Given the description of an element on the screen output the (x, y) to click on. 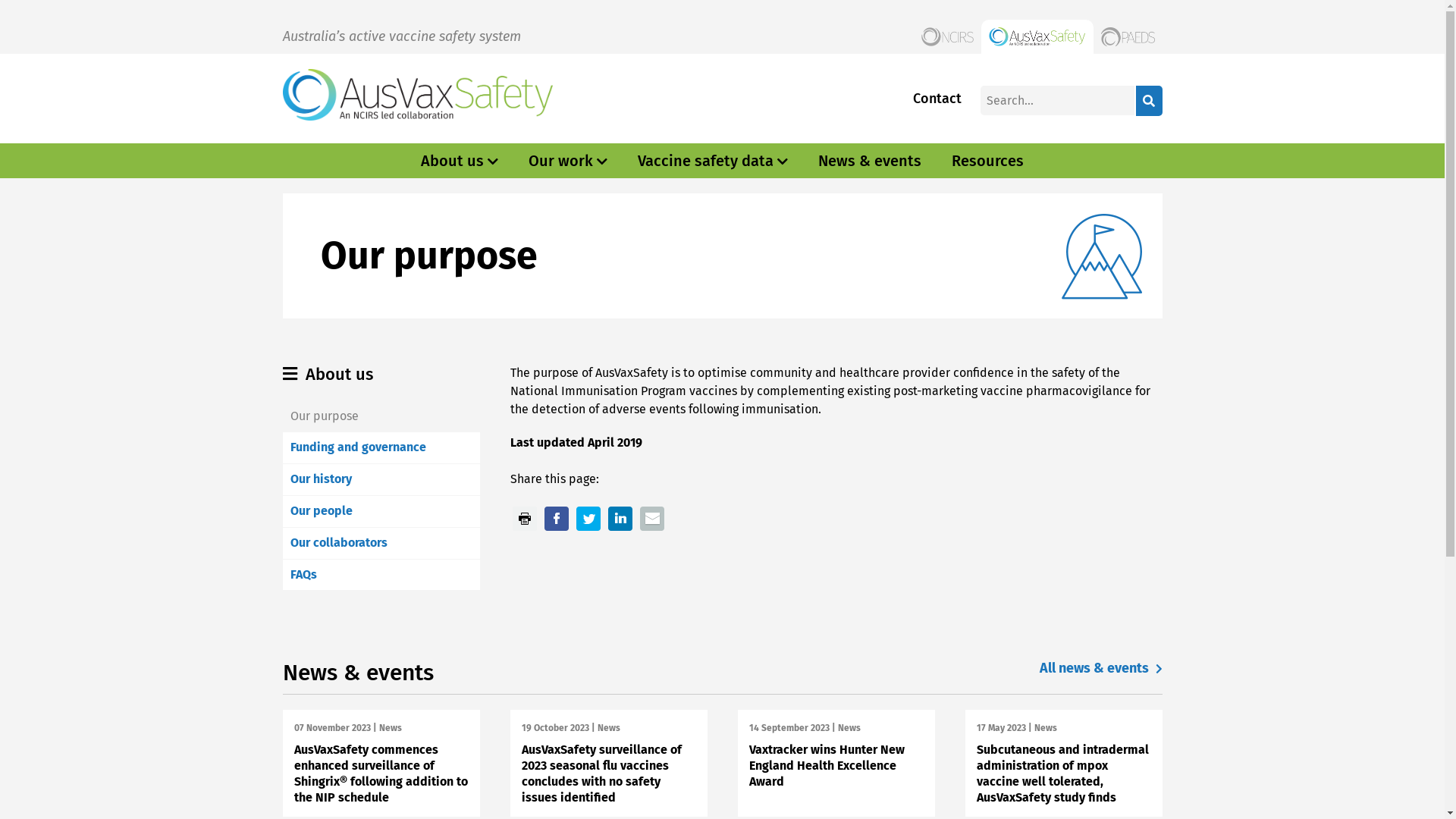
Our history Element type: text (320, 478)
Funding and governance Element type: text (357, 446)
Our purpose Element type: text (323, 415)
Search Element type: text (1148, 100)
About us Element type: text (451, 160)
News & events Element type: text (869, 160)
Our collaborators Element type: text (337, 542)
Resources Element type: text (987, 160)
Our people Element type: text (320, 510)
FAQs Element type: text (302, 574)
Skip to main content Element type: text (0, 0)
Enter the terms you wish to search for. Element type: hover (1056, 100)
Vaccine safety data Element type: text (705, 160)
Our work Element type: text (560, 160)
All news & events Element type: text (1099, 668)
Contact Element type: text (937, 98)
